Given the description of an element on the screen output the (x, y) to click on. 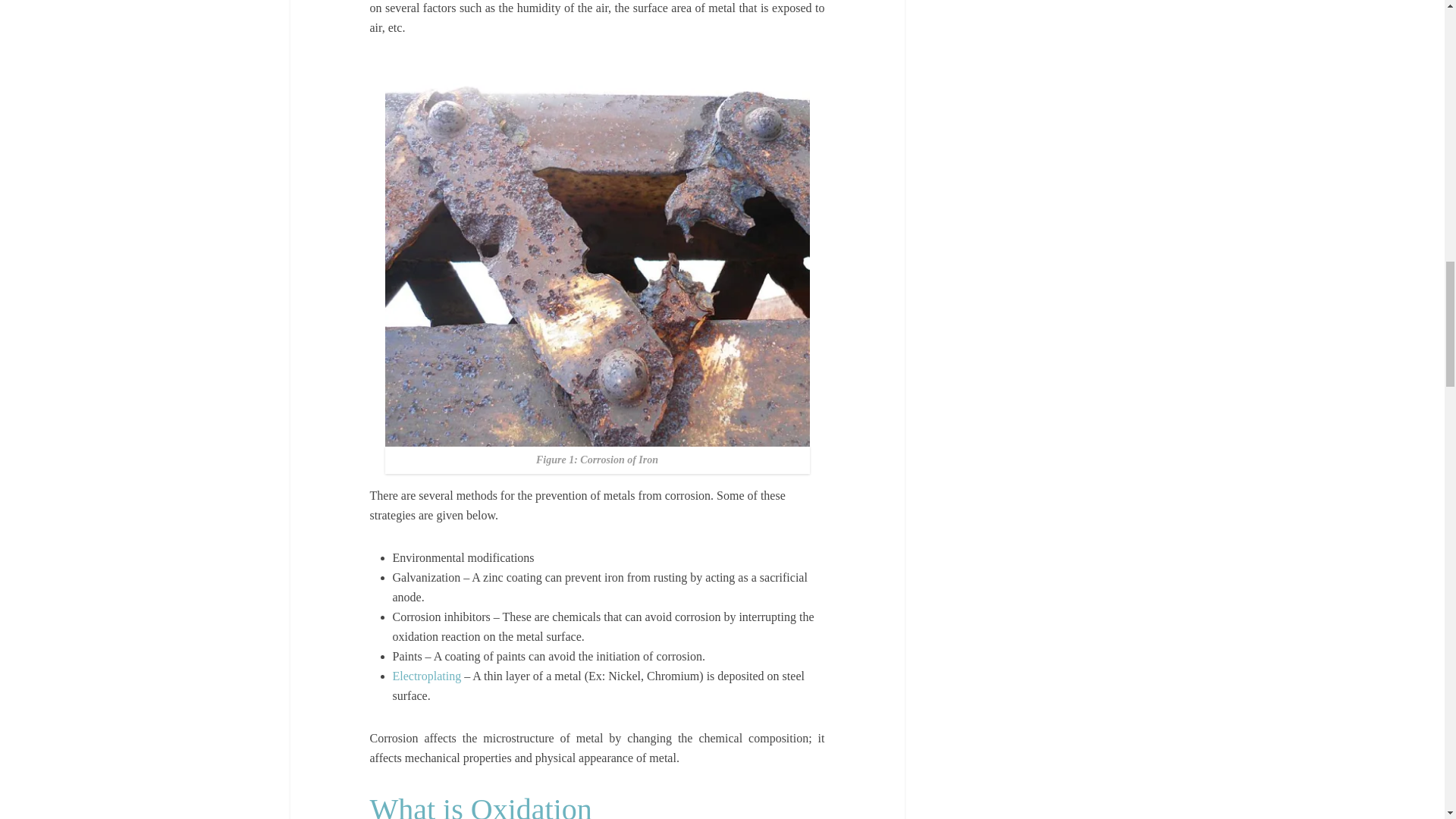
Electroplating (428, 675)
